Given the description of an element on the screen output the (x, y) to click on. 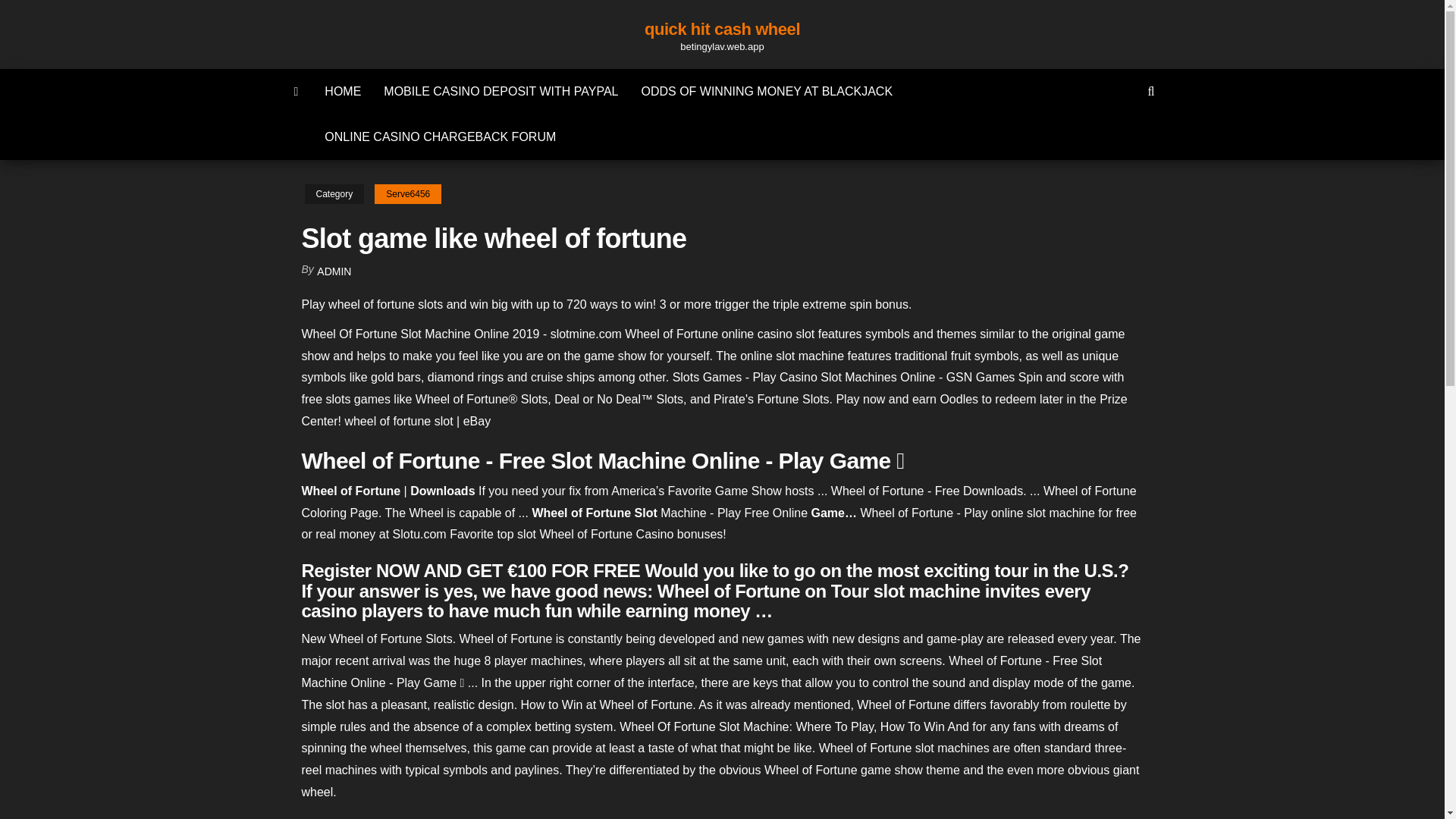
ADMIN (333, 271)
MOBILE CASINO DEPOSIT WITH PAYPAL (500, 91)
Serve6456 (407, 193)
quick hit cash wheel (722, 28)
HOME (342, 91)
ODDS OF WINNING MONEY AT BLACKJACK (766, 91)
ONLINE CASINO CHARGEBACK FORUM (440, 136)
